Given the description of an element on the screen output the (x, y) to click on. 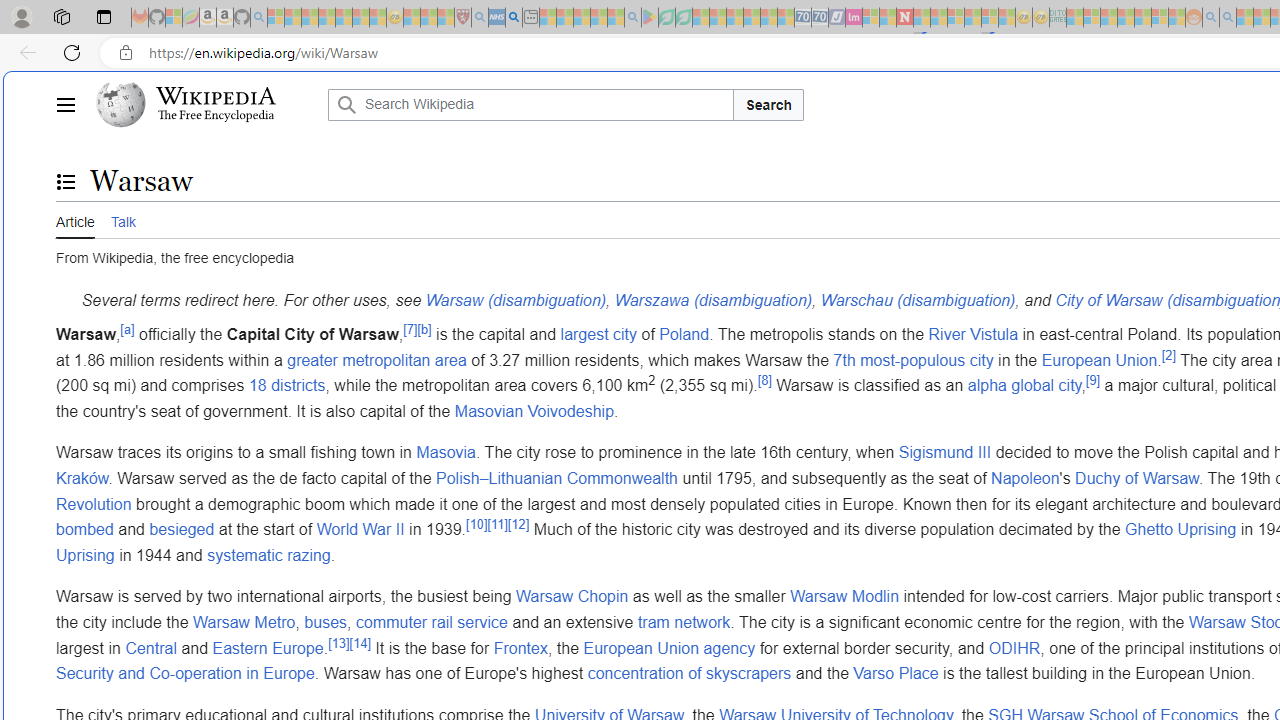
tram network (683, 621)
Eastern Europe (267, 647)
besieged (181, 530)
Main menu (65, 104)
largest city (598, 333)
Masovia (446, 453)
[10] (476, 524)
Search Wikipedia (530, 104)
